Given the description of an element on the screen output the (x, y) to click on. 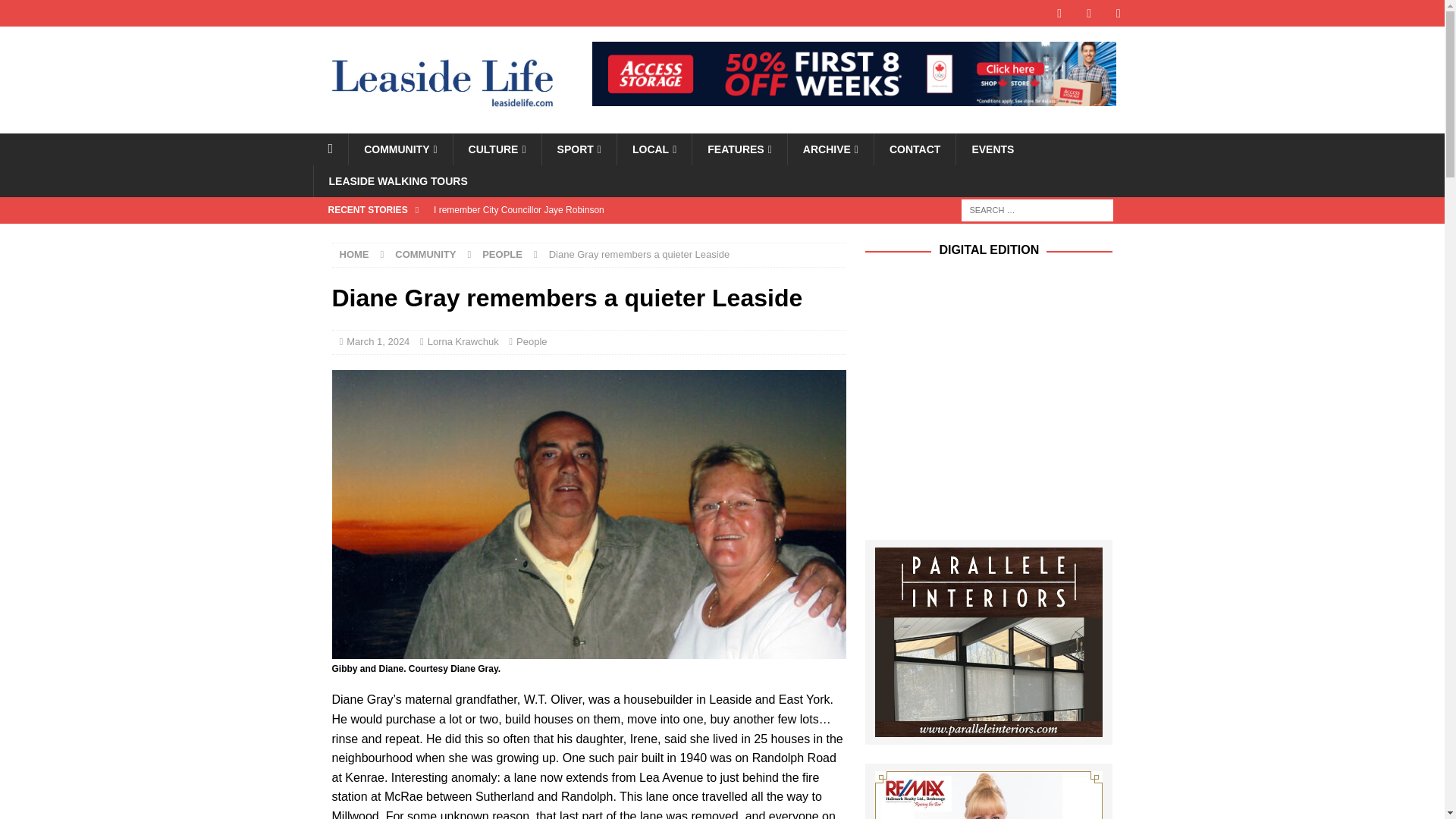
I remember City Councillor Jaye Robinson (634, 209)
The asphalt is not an ashtray (634, 235)
